Given the description of an element on the screen output the (x, y) to click on. 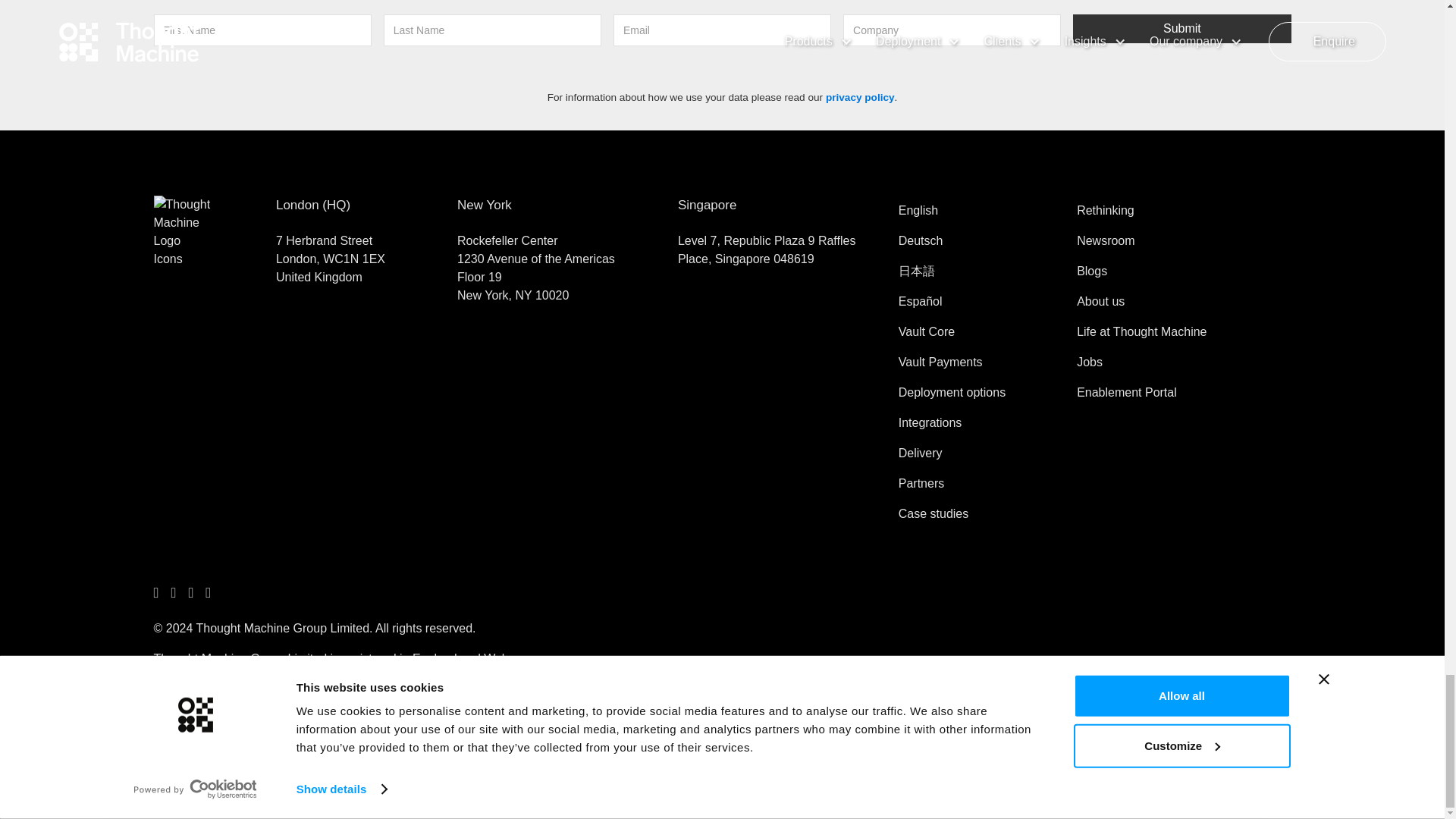
Submit (1181, 28)
